Given the description of an element on the screen output the (x, y) to click on. 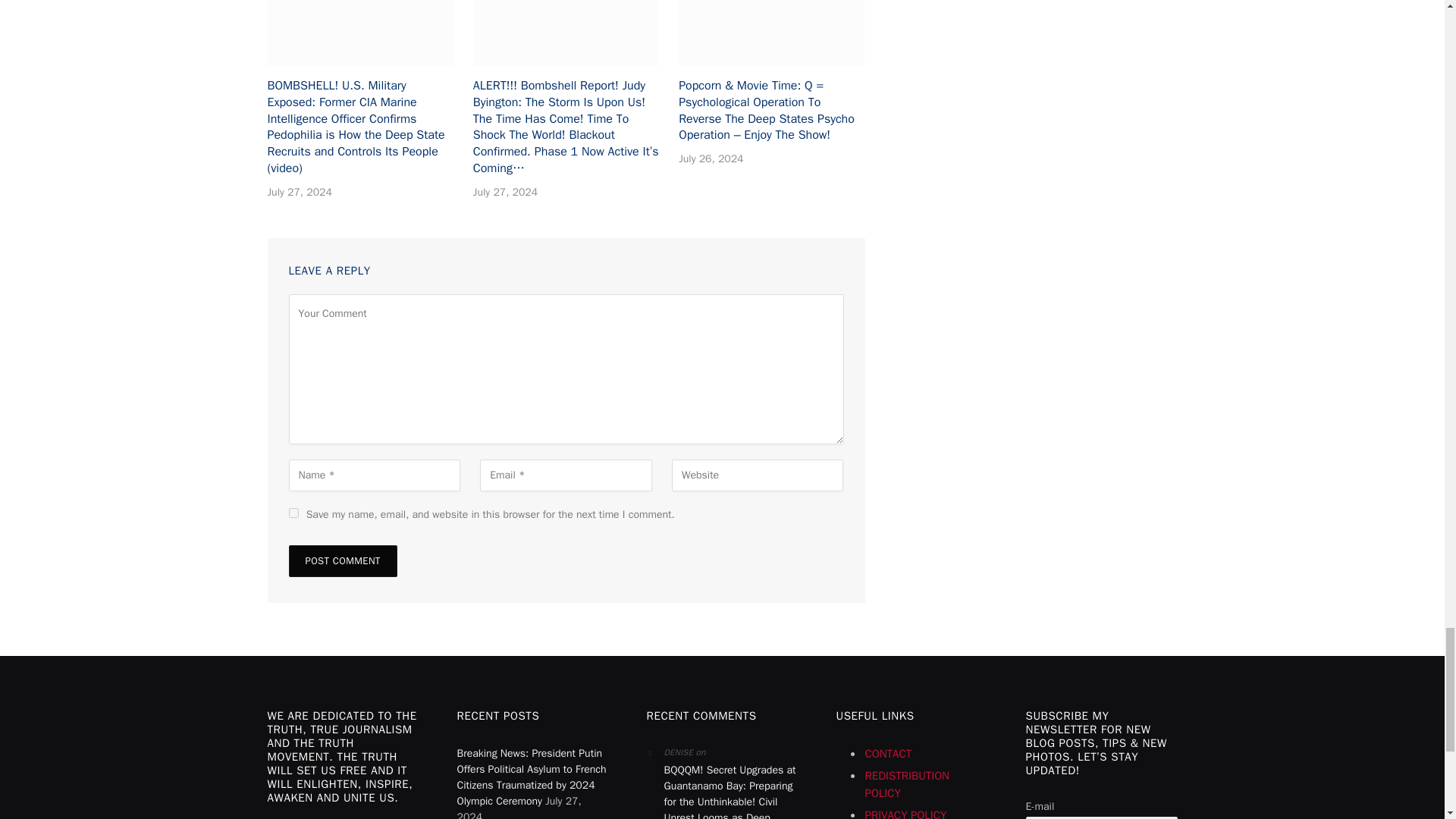
yes (293, 512)
Post Comment (342, 561)
